Given the description of an element on the screen output the (x, y) to click on. 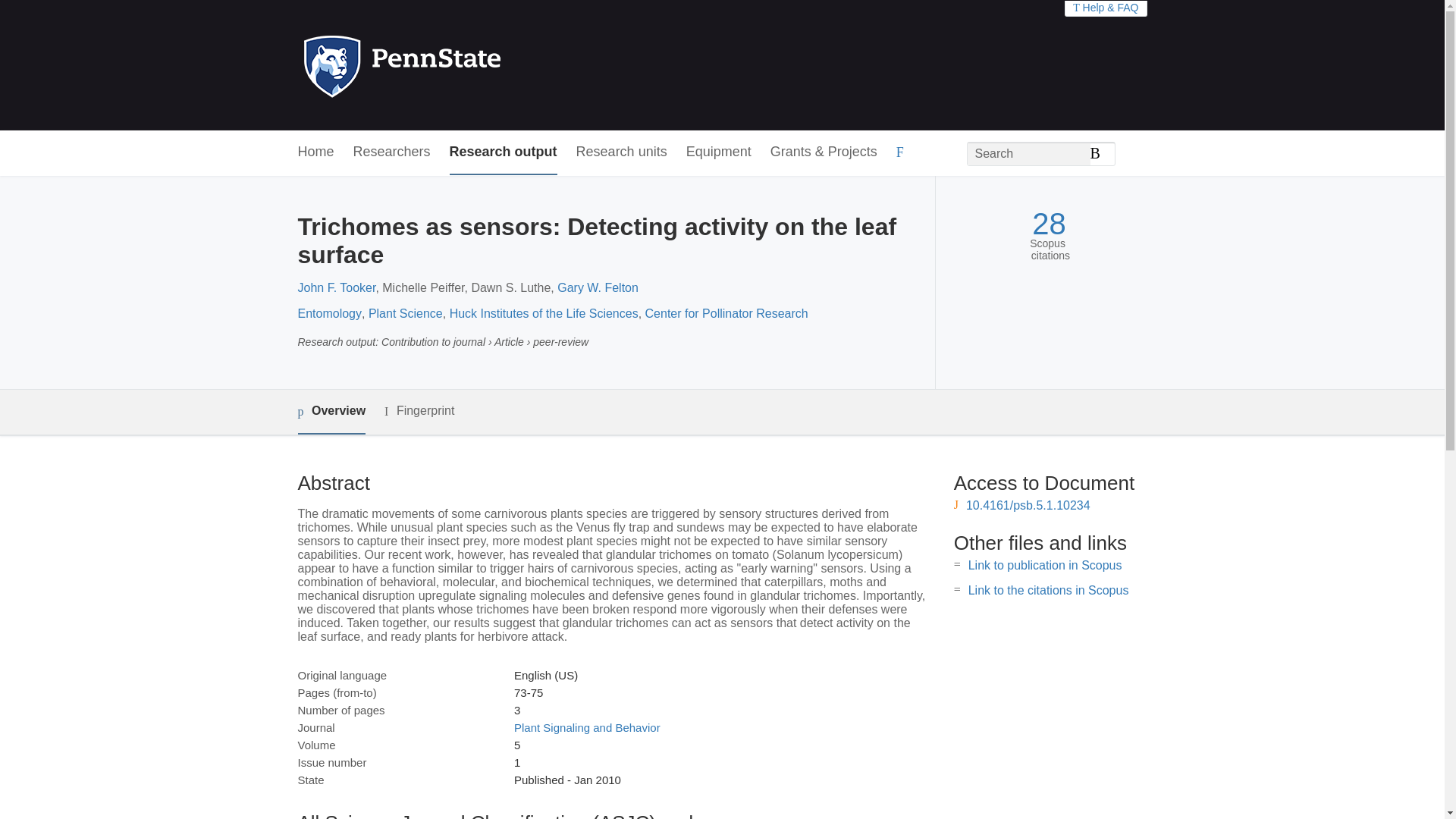
Research units (621, 152)
Link to the citations in Scopus (1048, 590)
Research output (503, 152)
Plant Science (405, 313)
28 (1048, 223)
Equipment (718, 152)
Researchers (391, 152)
Link to publication in Scopus (1045, 564)
Plant Signaling and Behavior (587, 727)
Fingerprint (419, 411)
Huck Institutes of the Life Sciences (544, 313)
Center for Pollinator Research (726, 313)
Overview (331, 411)
Entomology (329, 313)
